Given the description of an element on the screen output the (x, y) to click on. 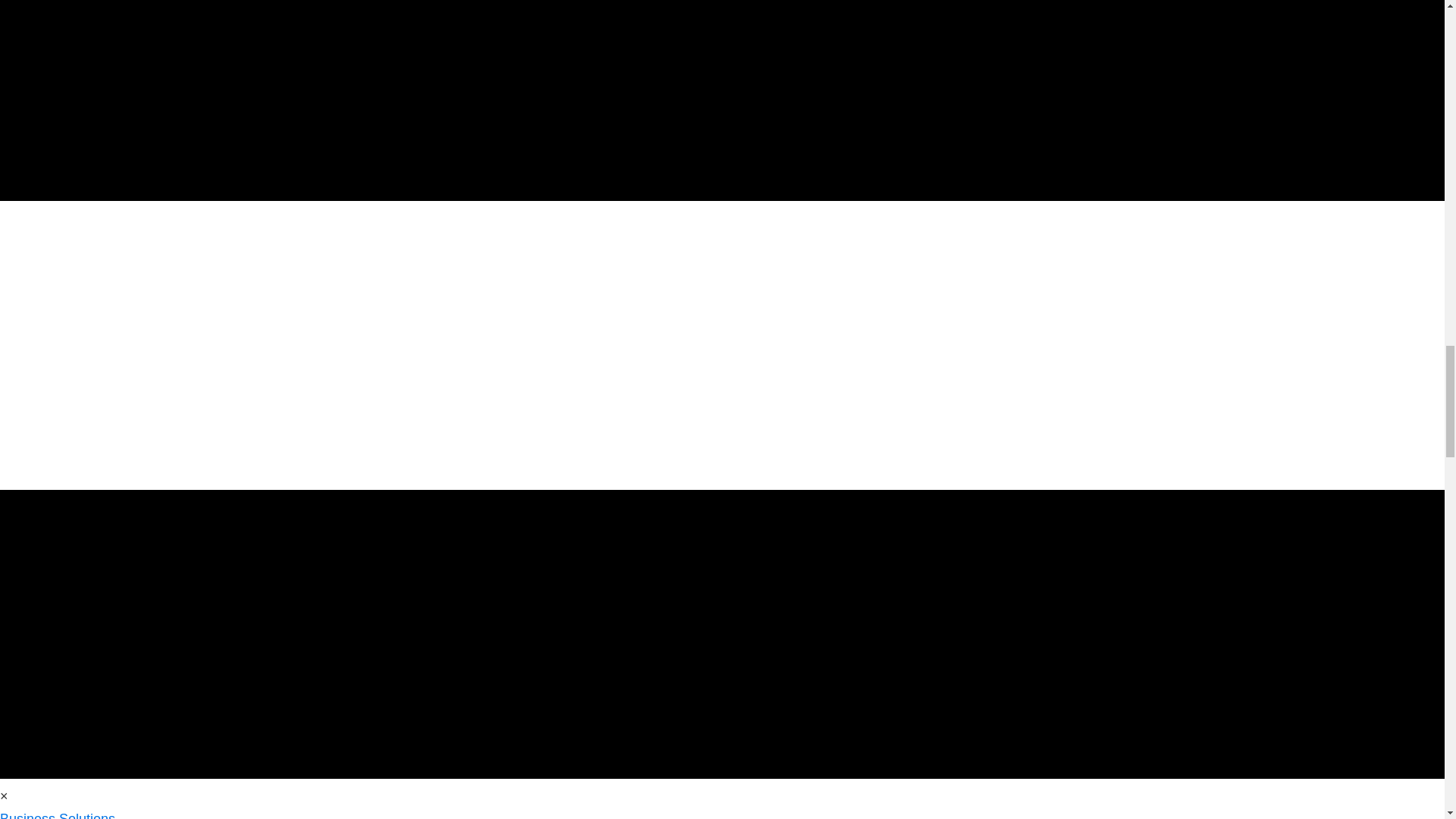
Business Solutions (57, 815)
